Given the description of an element on the screen output the (x, y) to click on. 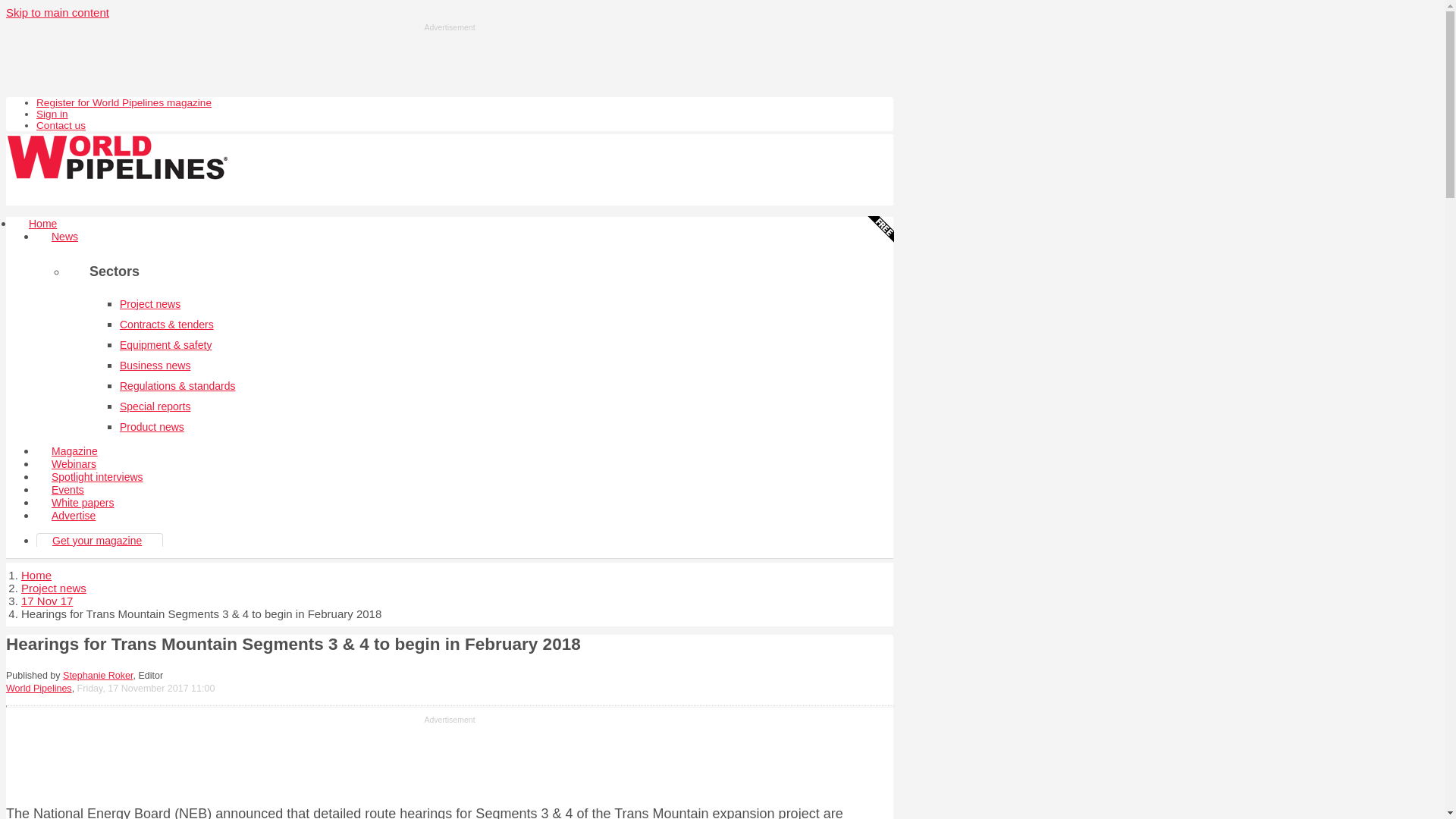
Home (42, 223)
Project news (53, 587)
Advertise (73, 515)
Magazine (74, 451)
Register for your magazine (123, 102)
Events (67, 489)
News (64, 236)
Home (35, 574)
World Pipelines (38, 688)
Sign in (52, 113)
